Given the description of an element on the screen output the (x, y) to click on. 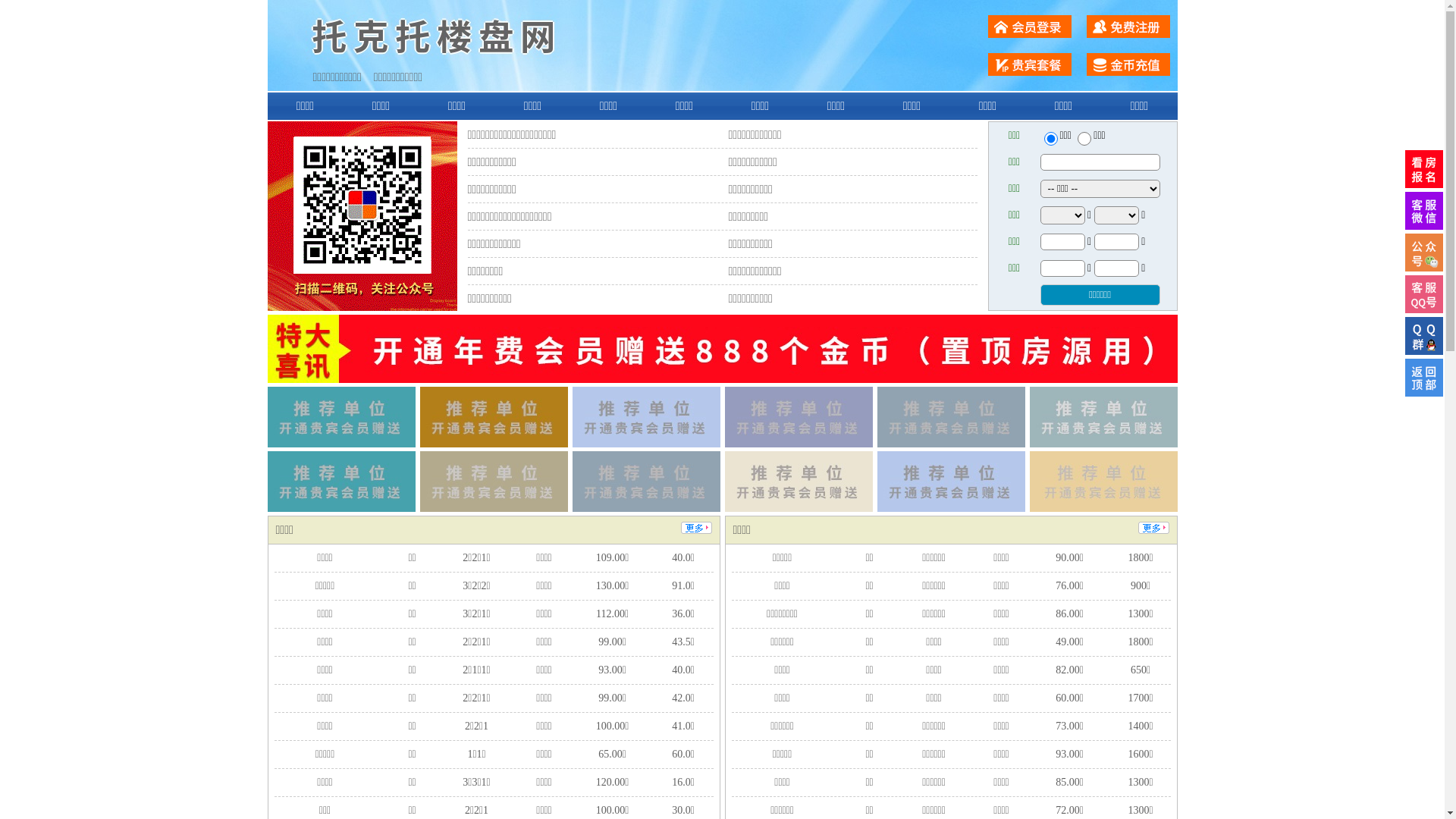
ershou Element type: text (1050, 138)
chuzu Element type: text (1084, 138)
